Given the description of an element on the screen output the (x, y) to click on. 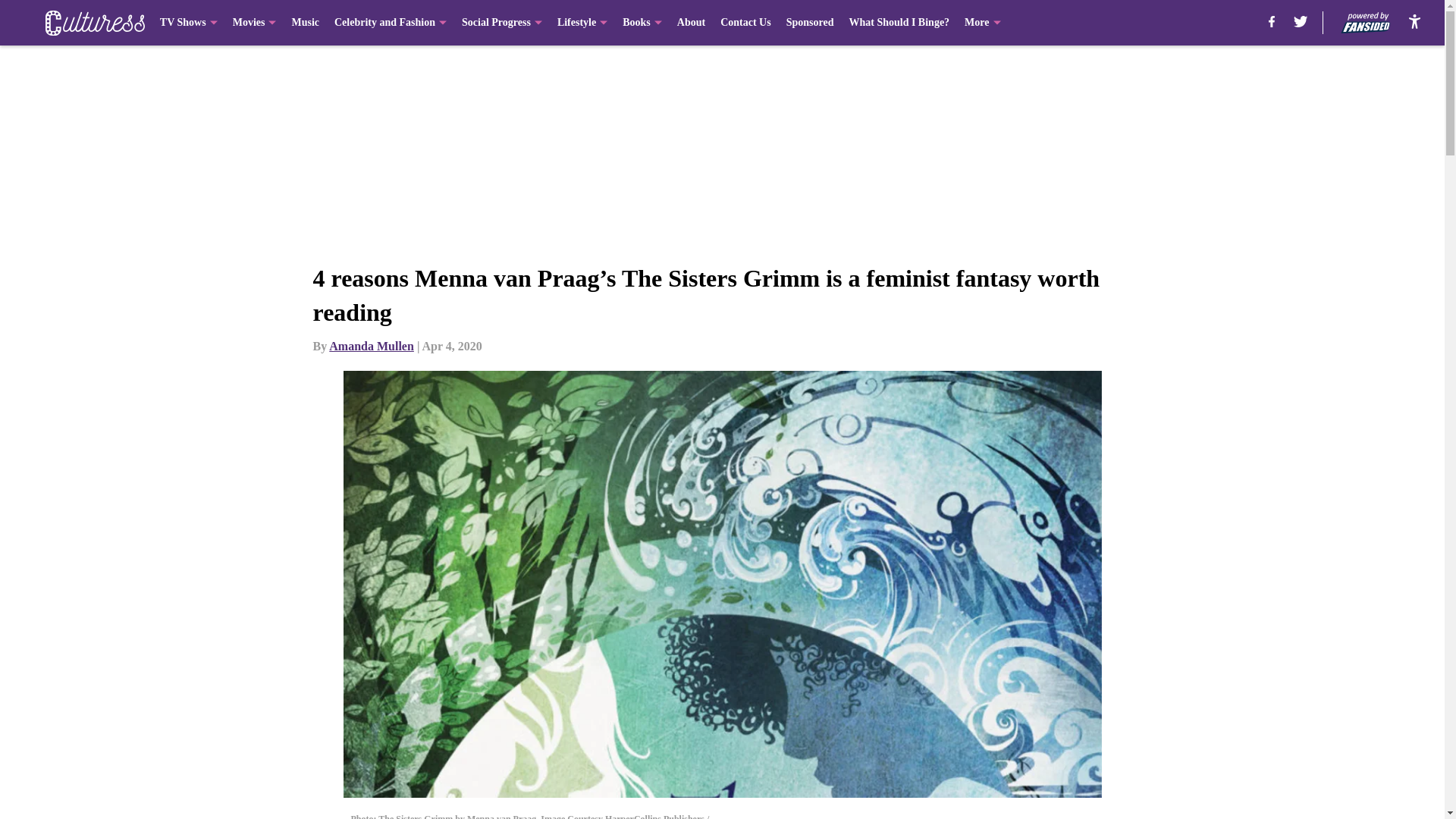
Music (304, 22)
